Given the description of an element on the screen output the (x, y) to click on. 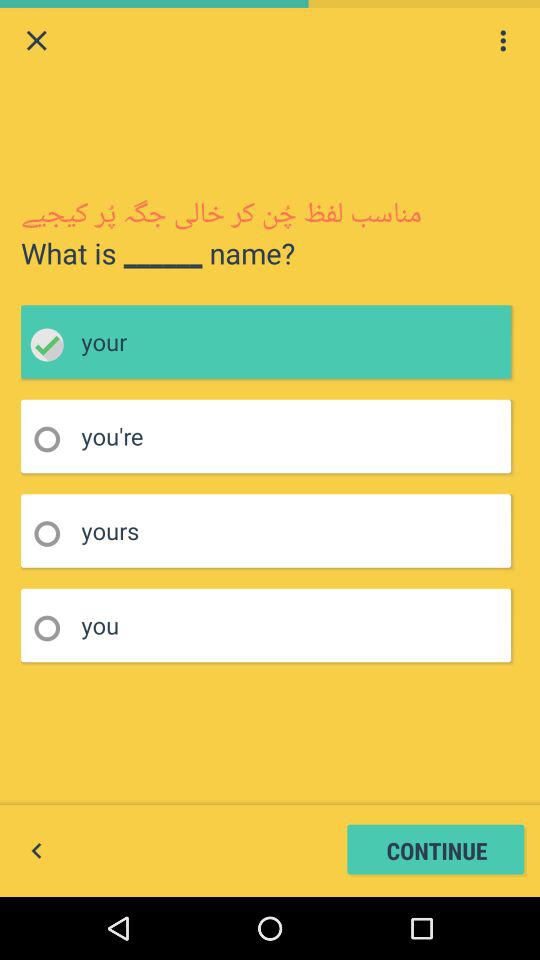
select option yours (53, 533)
